Given the description of an element on the screen output the (x, y) to click on. 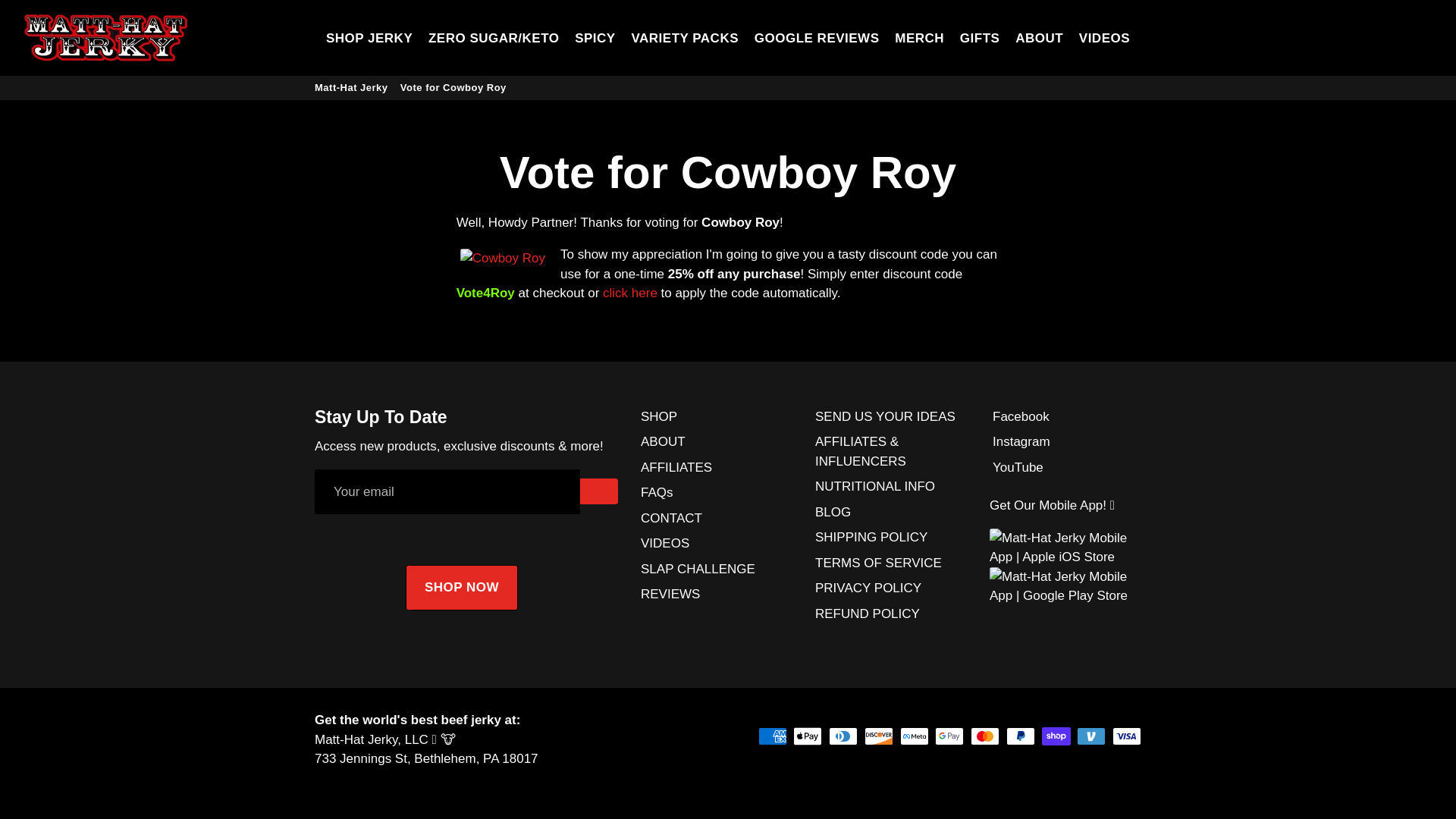
Apple Pay (807, 736)
GIFTS (979, 37)
American Express (772, 736)
Matt-Hat Jerky (106, 37)
ABOUT (1038, 37)
Meta Pay (913, 736)
VARIETY PACKS (684, 37)
Venmo (1091, 736)
MERCH (919, 37)
Matt-Hat Jerky on YouTube (1016, 467)
